Given the description of an element on the screen output the (x, y) to click on. 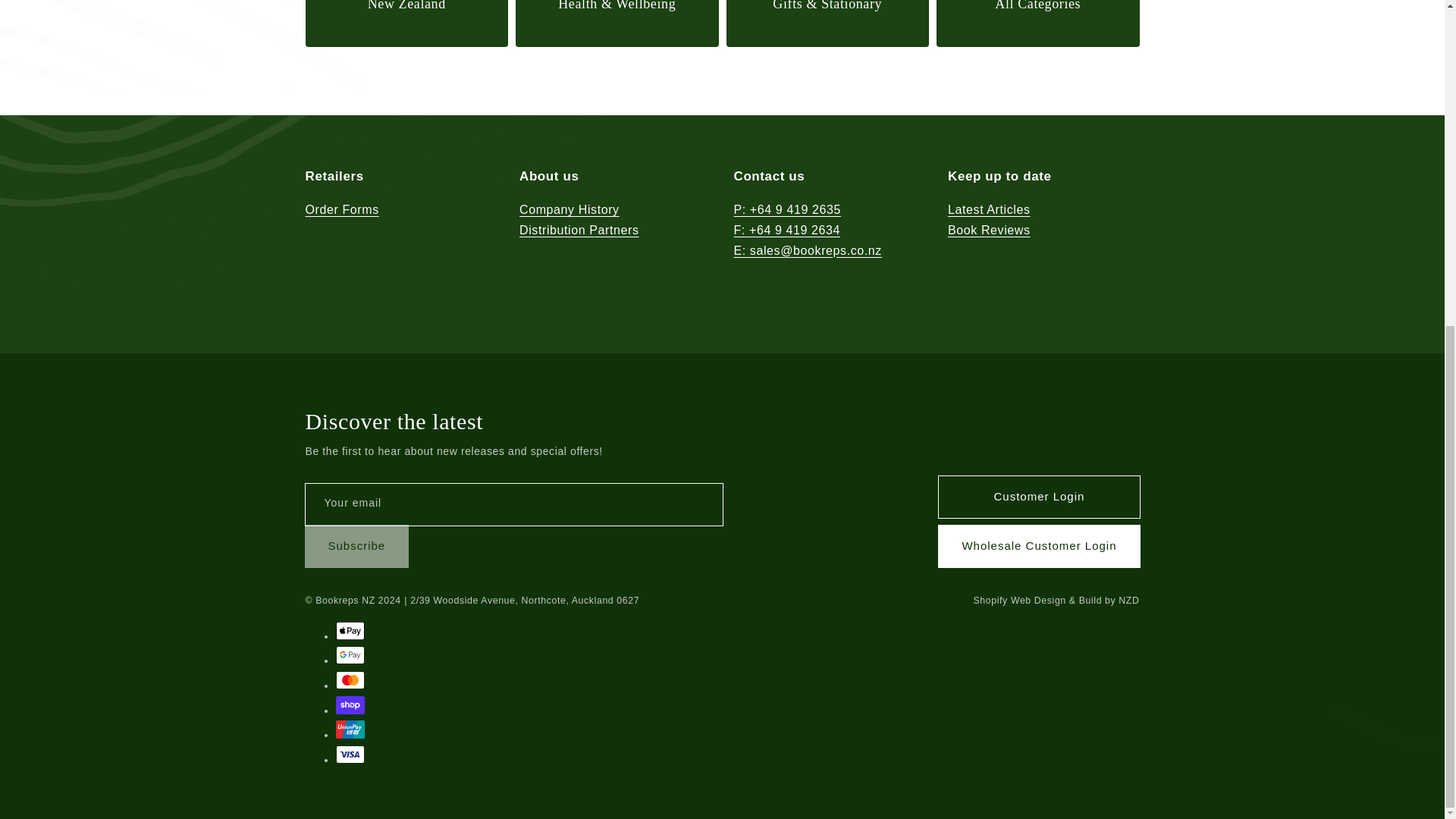
Company History (569, 212)
New Zealand (406, 23)
Order Forms (341, 212)
All Categories (1038, 23)
Distribution Partners (579, 230)
